Given the description of an element on the screen output the (x, y) to click on. 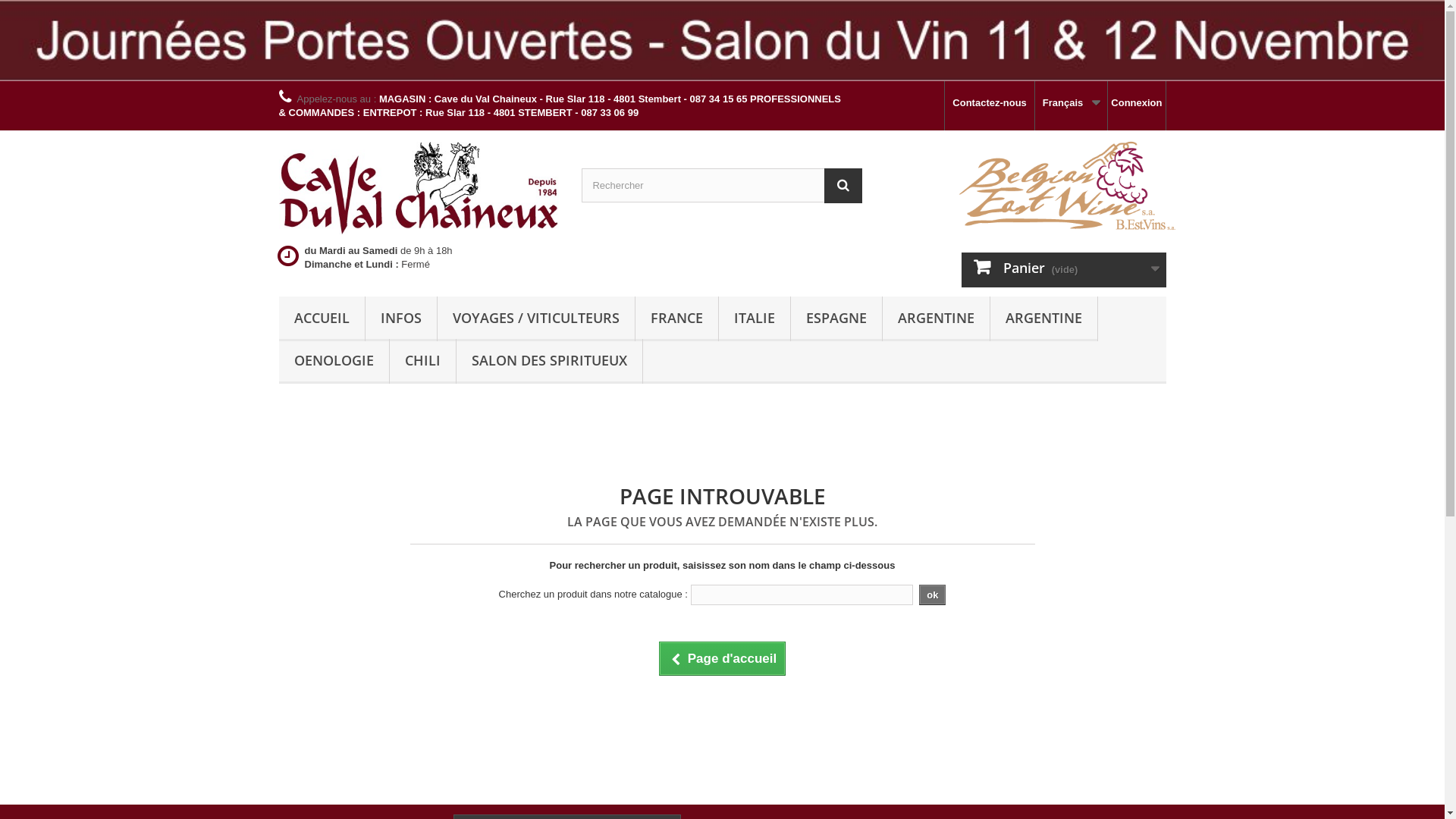
Best Vins Element type: hover (419, 187)
ARGENTINE Element type: text (935, 318)
ESPAGNE Element type: text (835, 318)
FRANCE Element type: text (676, 318)
Page d'accueil Element type: text (721, 658)
Contactez-nous Element type: text (989, 105)
ARGENTINE Element type: text (1043, 318)
ACCUEIL Element type: text (321, 318)
CHILI Element type: text (422, 360)
SALON DES SPIRITUEUX Element type: text (549, 360)
Connexion Element type: text (1135, 105)
ok Element type: text (932, 594)
VOYAGES / VITICULTEURS Element type: text (534, 318)
OENOLOGIE Element type: text (334, 360)
INFOS Element type: text (400, 318)
ITALIE Element type: text (754, 318)
Panier (vide) Element type: text (1063, 269)
